Given the description of an element on the screen output the (x, y) to click on. 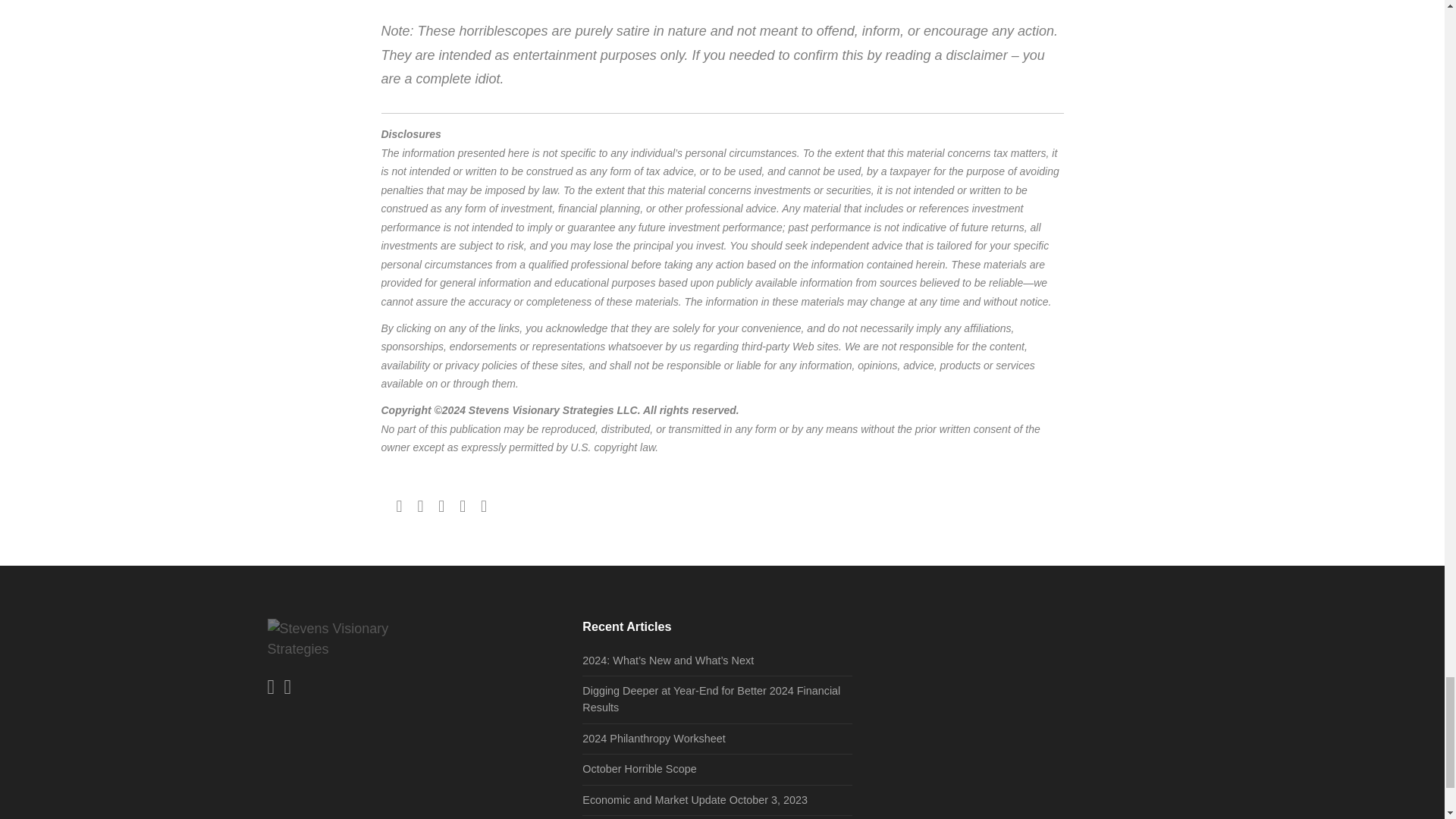
Digging Deeper at Year-End for Better 2024 Financial Results (711, 698)
Economic and Market Update October 3, 2023 (695, 799)
2024 Philanthropy Worksheet (653, 738)
October Horrible Scope (638, 768)
